Given the description of an element on the screen output the (x, y) to click on. 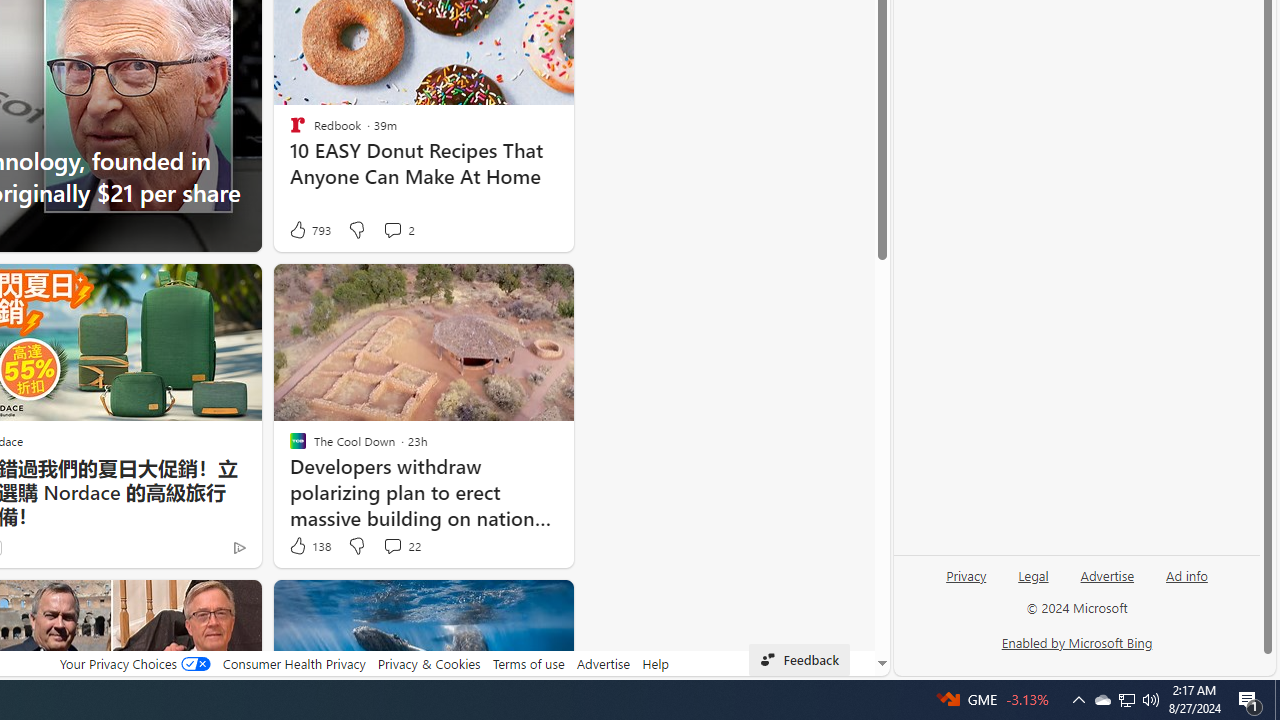
Ad info (1186, 583)
View comments 22 Comment (400, 546)
Legal (1033, 583)
View comments 22 Comment (392, 545)
View comments 2 Comment (397, 230)
View comments 2 Comment (392, 229)
Your Privacy Choices (134, 663)
